Given the description of an element on the screen output the (x, y) to click on. 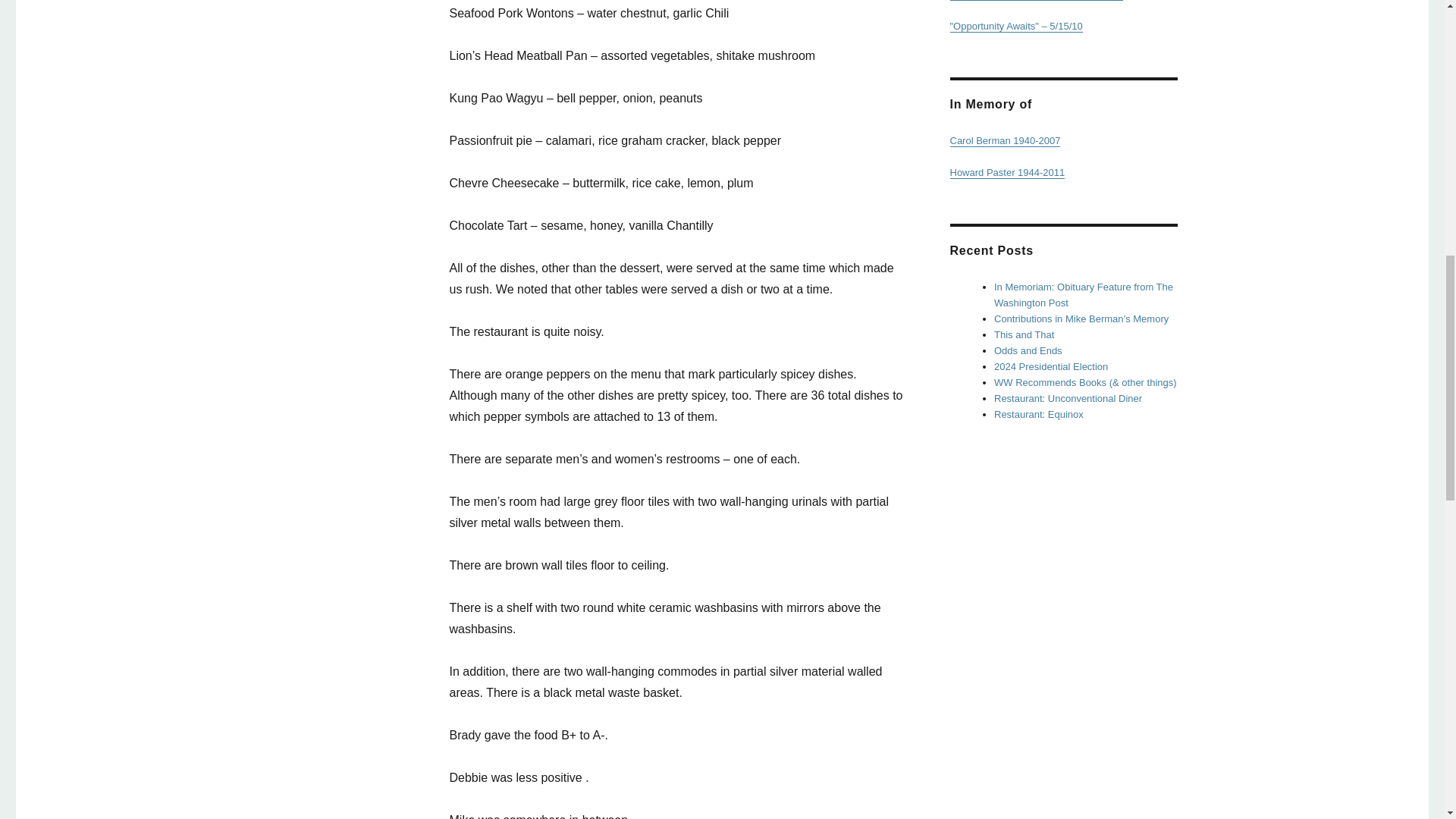
Odds and Ends (1028, 350)
2024 Presidential Election (1051, 366)
Howard Paster 1944-2011 (1006, 172)
Carol Berman 1940-2007 (1004, 140)
In Memoriam: Obituary Feature from The Washington Post (1083, 294)
Restaurant: Unconventional Diner (1067, 398)
This and That (1024, 334)
Restaurant: Equinox (1038, 414)
